Given the description of an element on the screen output the (x, y) to click on. 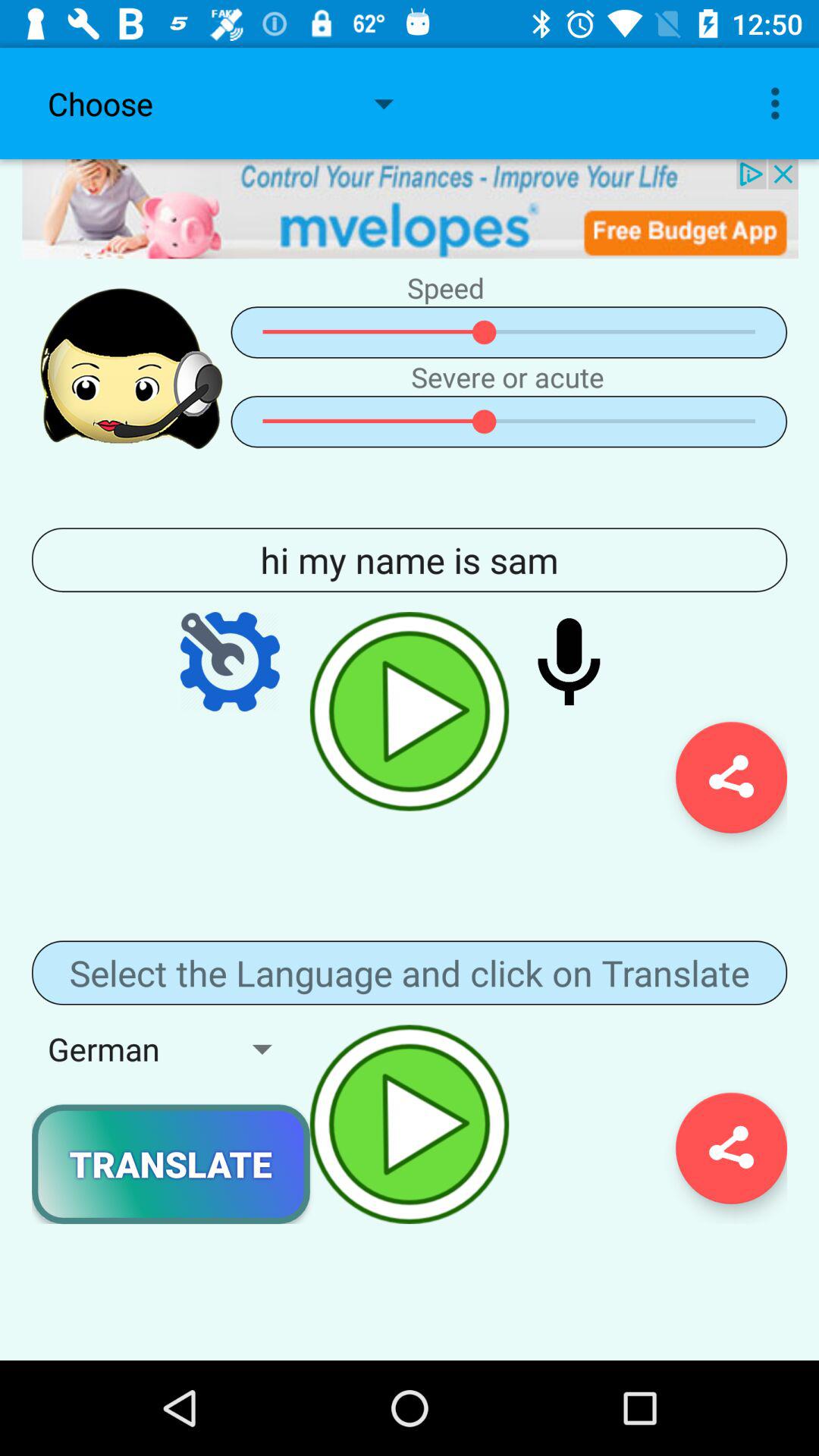
for recording (568, 661)
